Given the description of an element on the screen output the (x, y) to click on. 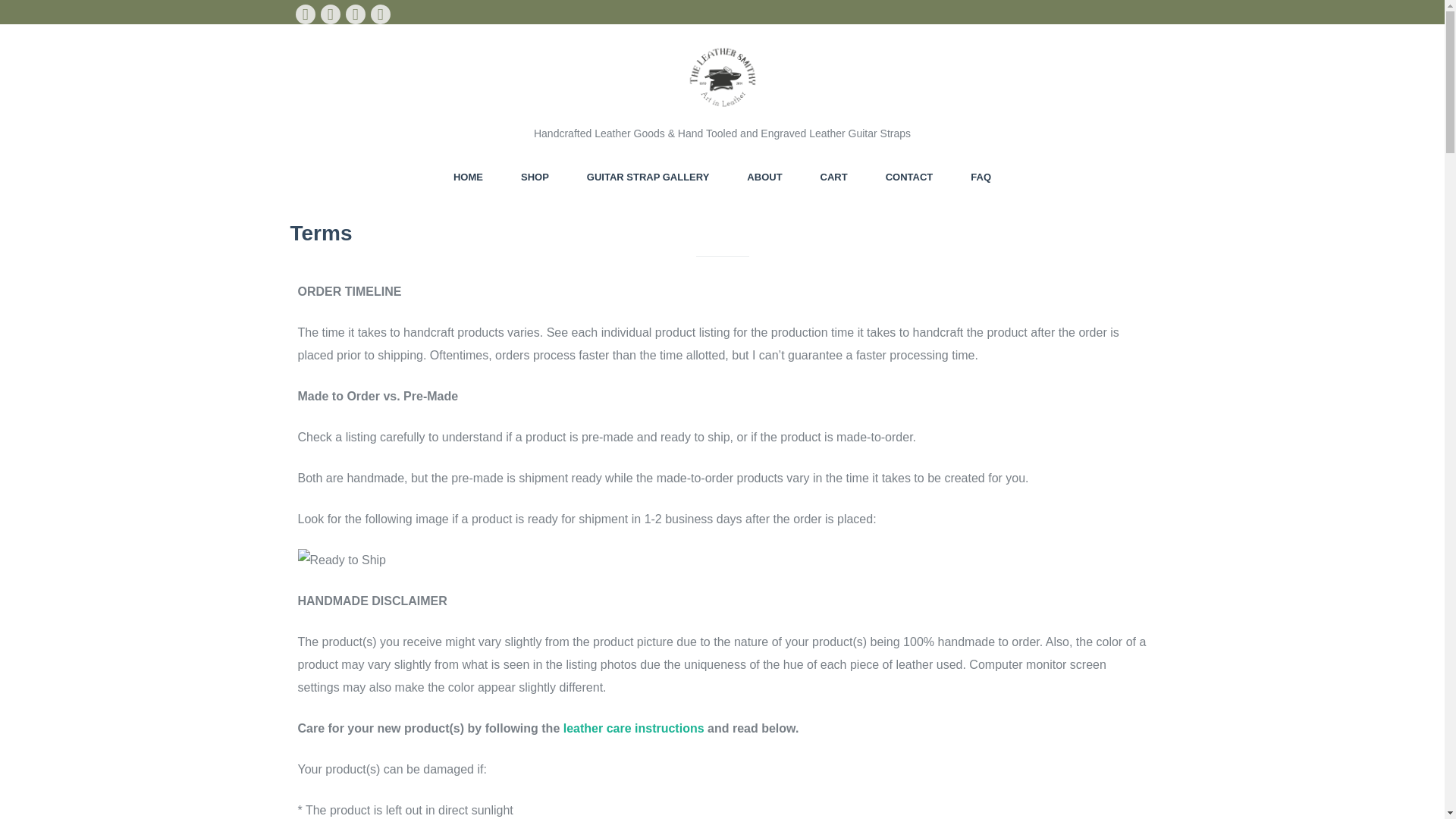
leather care instructions (633, 727)
GUITAR STRAP GALLERY (648, 177)
ABOUT (764, 177)
SHOP (534, 177)
HOME (467, 177)
pinterest (355, 14)
FAQ (981, 177)
CART (834, 177)
facebook (305, 14)
twitter (329, 14)
